Given the description of an element on the screen output the (x, y) to click on. 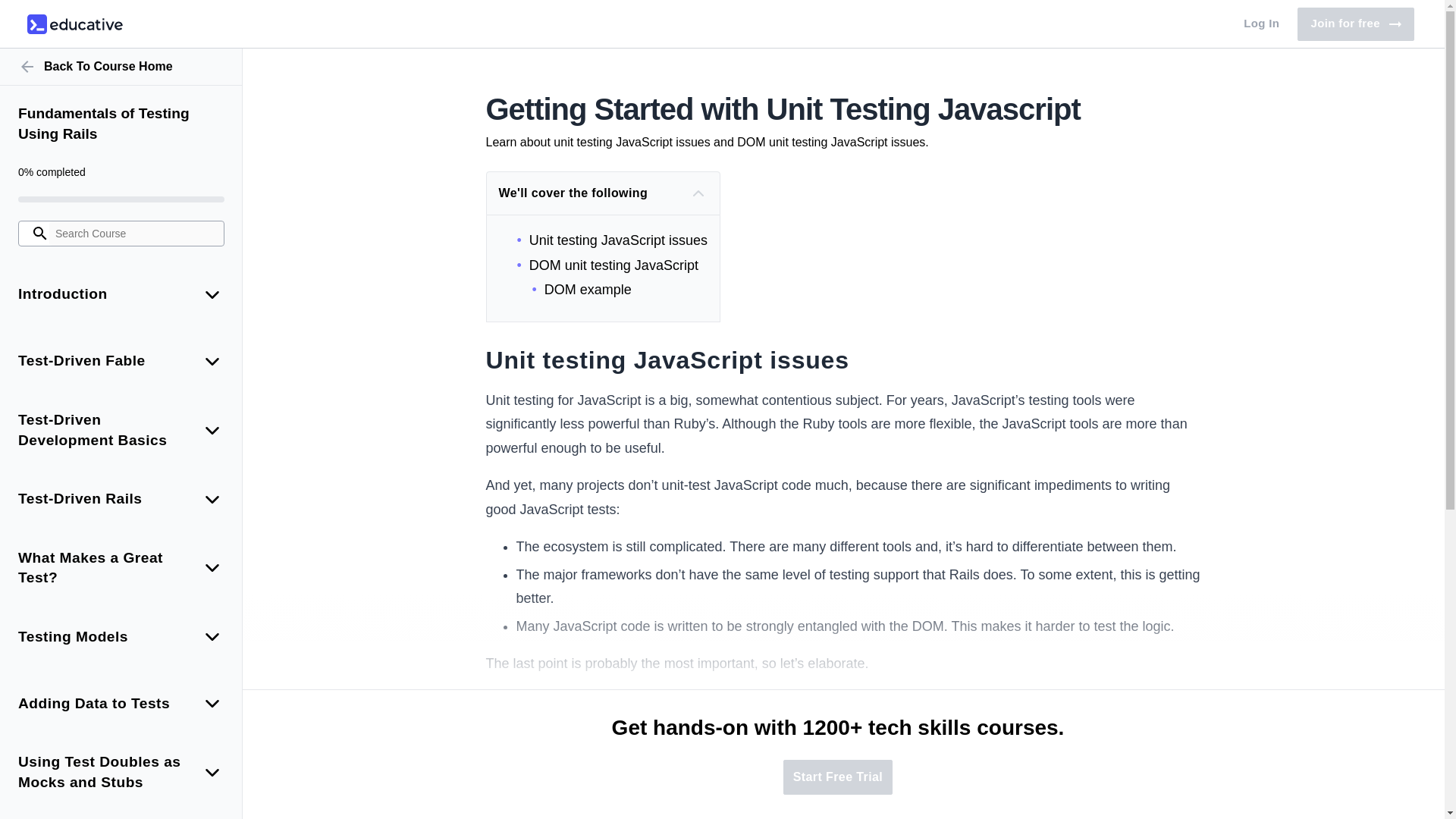
Back To Course Home (1355, 23)
educative.io (121, 66)
Fundamentals of Testing Using Rails (74, 23)
Log In (121, 124)
